Given the description of an element on the screen output the (x, y) to click on. 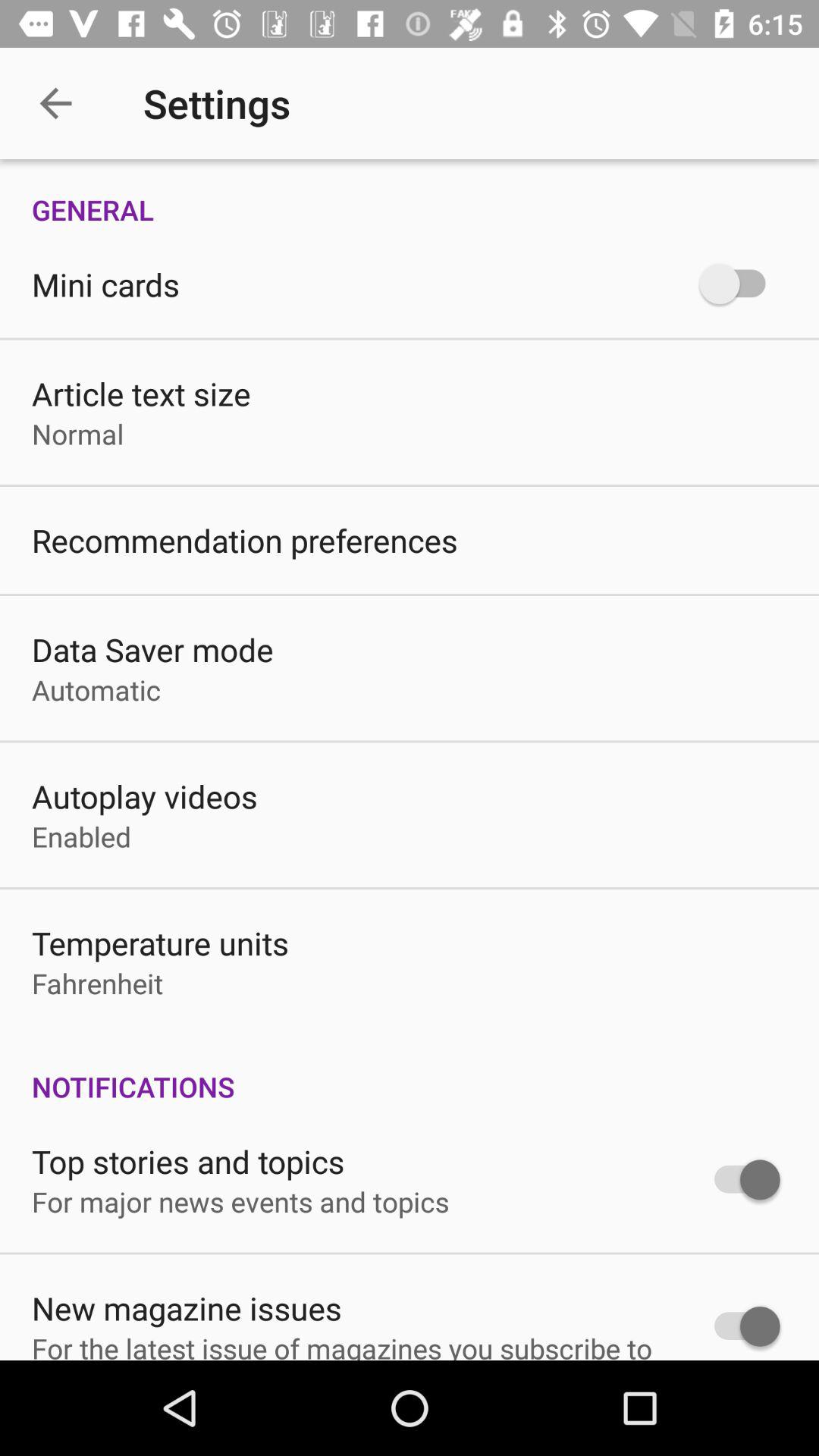
open icon below article text size item (77, 433)
